Given the description of an element on the screen output the (x, y) to click on. 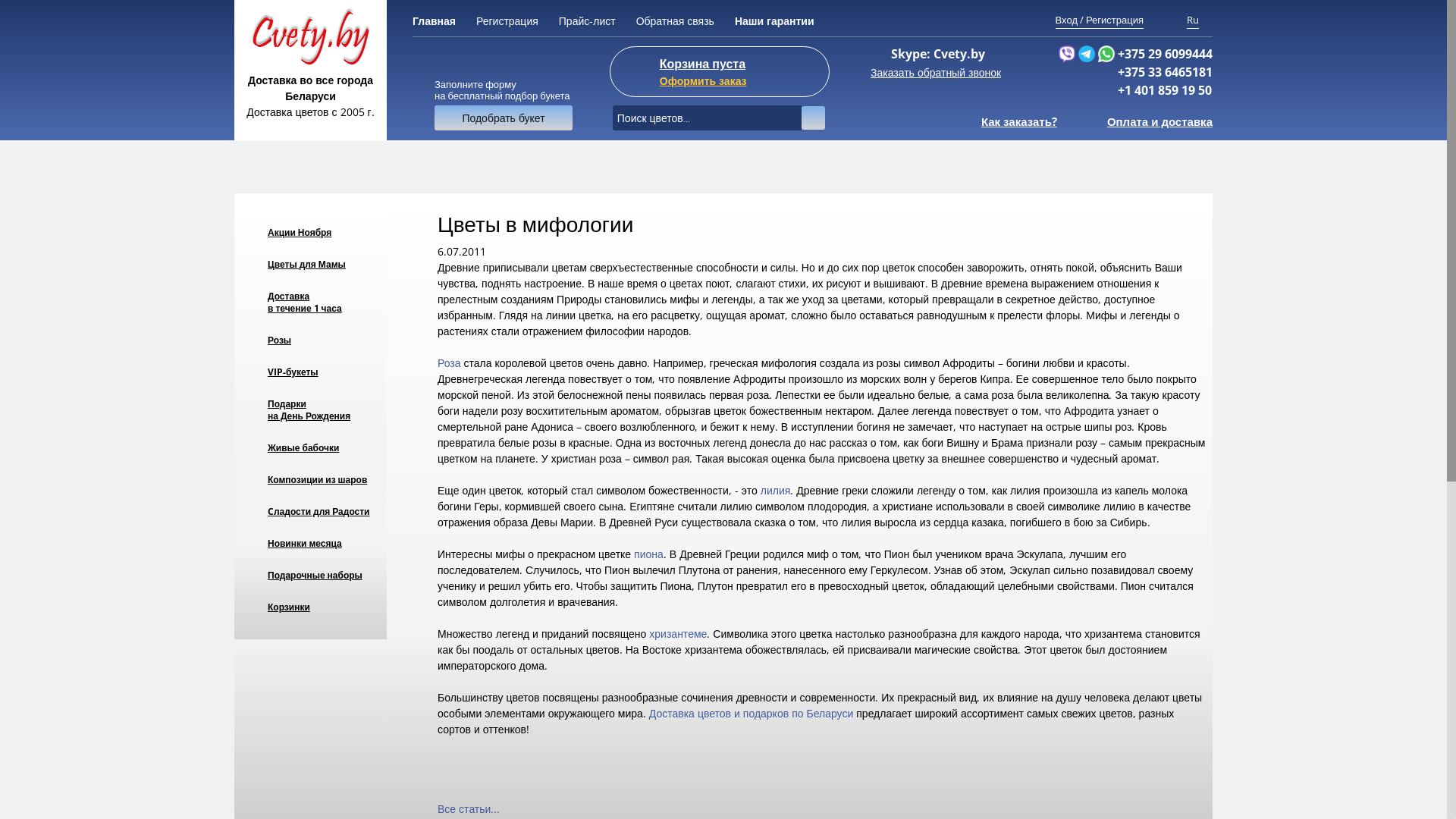
Viber Element type: hover (1066, 53)
WhatsApp Element type: hover (1106, 53)
Telegram Element type: hover (1086, 53)
Ru Element type: text (1192, 20)
Skype: Cvety.by Element type: text (938, 53)
